Given the description of an element on the screen output the (x, y) to click on. 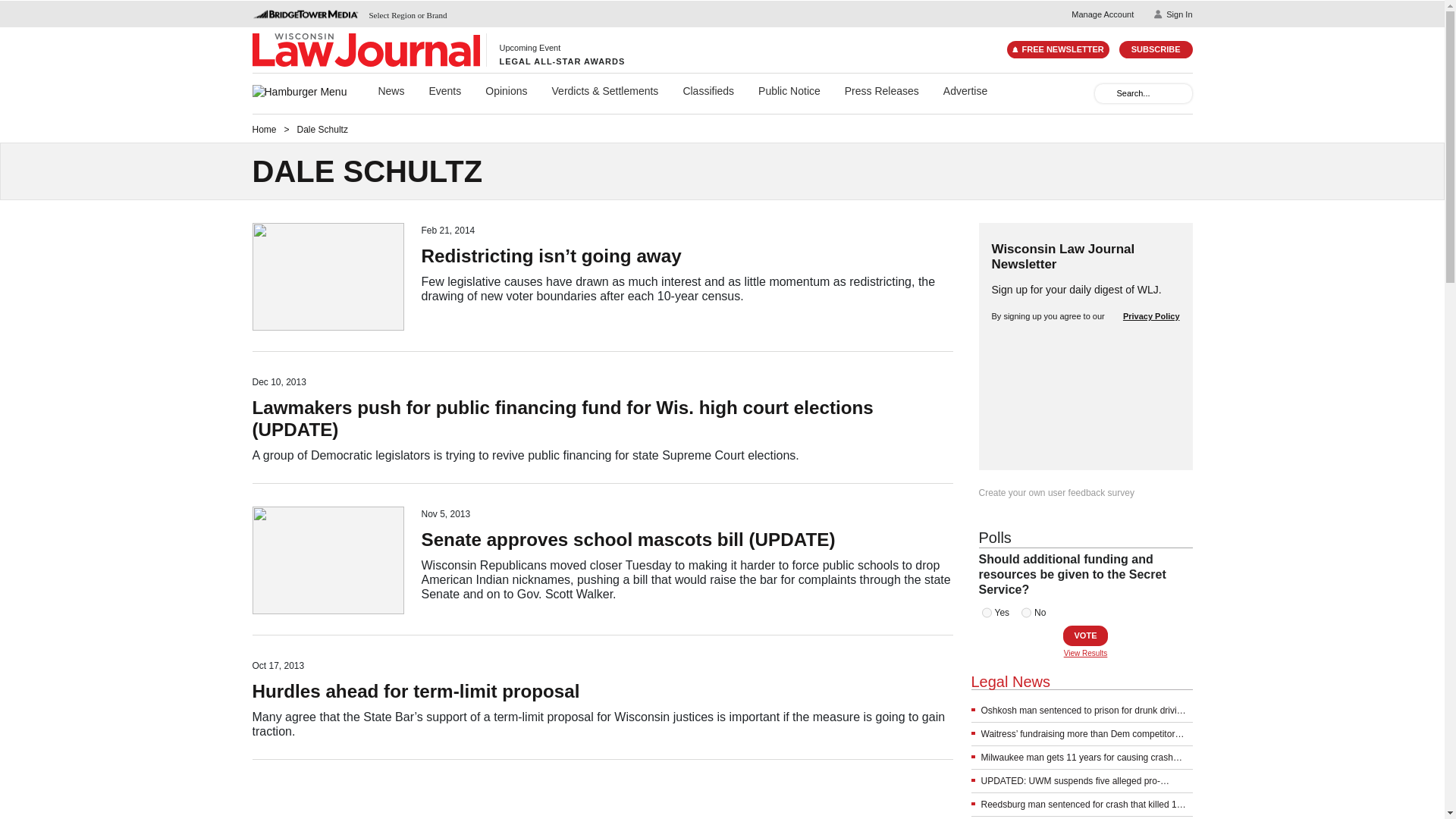
   Vote    (1085, 635)
502 (1026, 612)
501 (986, 612)
View Results Of This Poll (1085, 653)
